Given the description of an element on the screen output the (x, y) to click on. 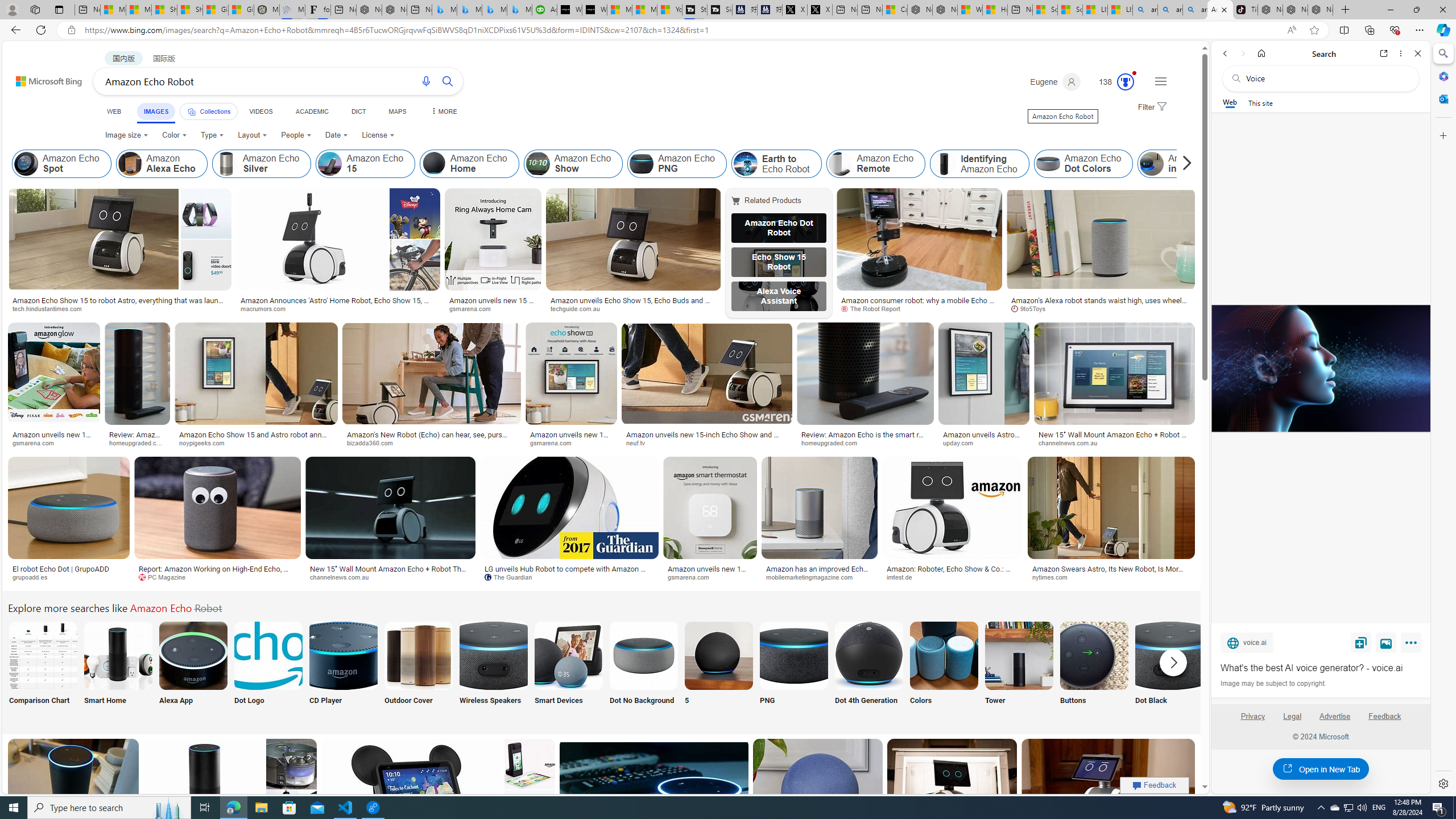
DICT (357, 111)
Customize (1442, 135)
Image size (127, 135)
Earth to Echo Robot (745, 163)
The Robot Report (919, 308)
The Guardian (512, 576)
gsmarena.com (710, 576)
Web scope (1230, 102)
